Given the description of an element on the screen output the (x, y) to click on. 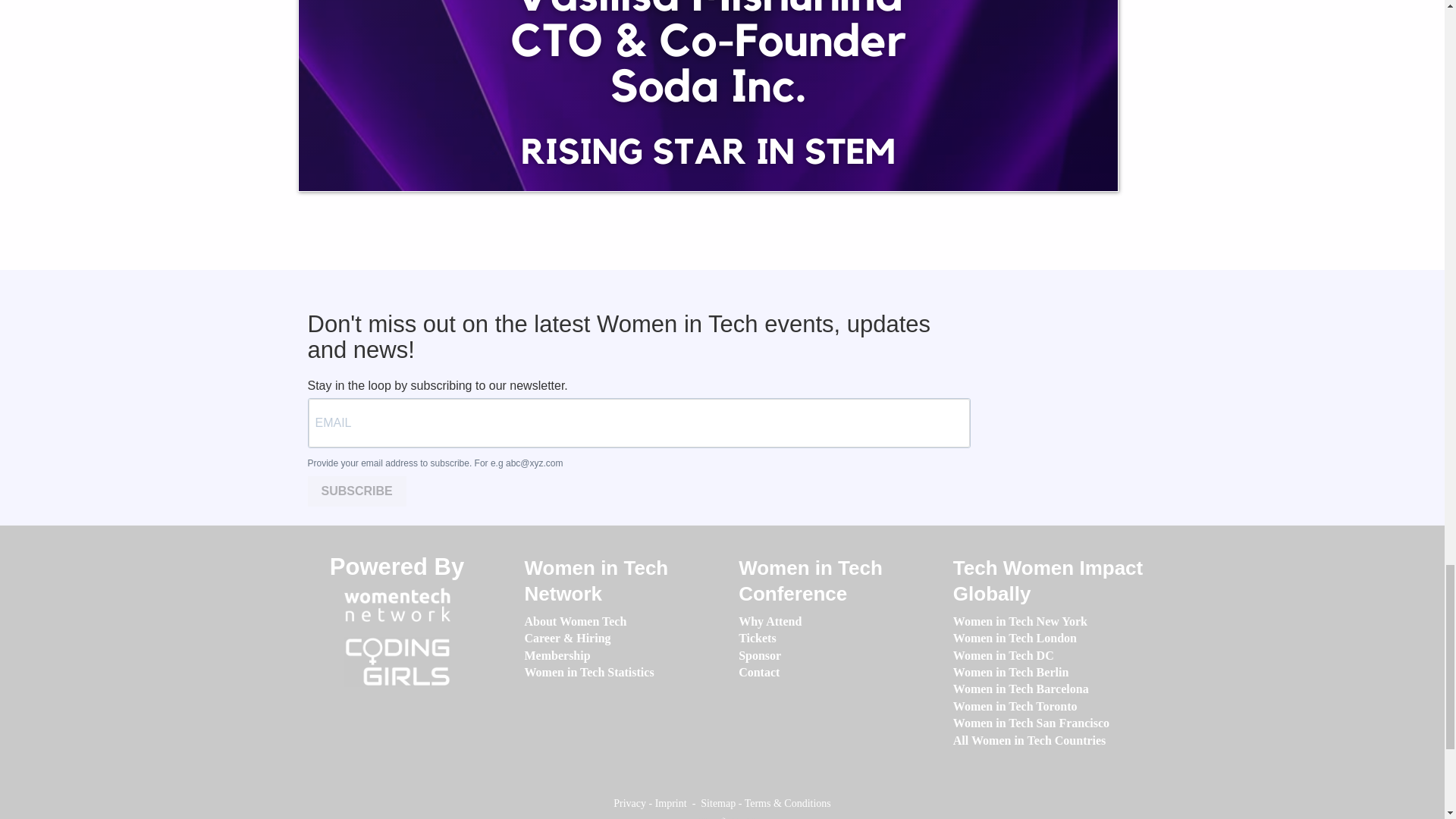
Coding Girls (396, 662)
Women in Technology (396, 604)
